Given the description of an element on the screen output the (x, y) to click on. 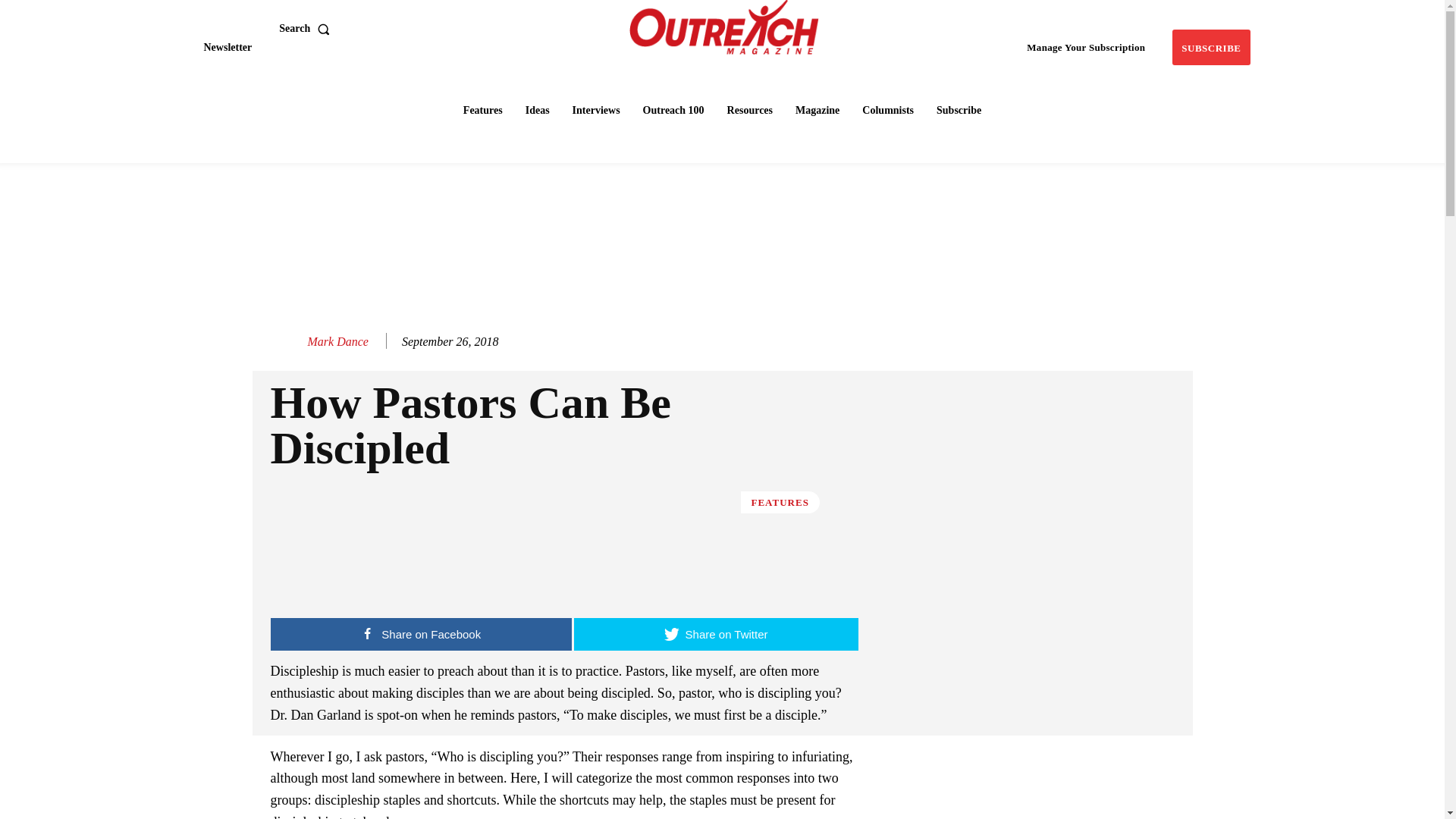
Manage Your Subscription (1085, 47)
Subscribe (1210, 47)
Newsletter (226, 47)
